Given the description of an element on the screen output the (x, y) to click on. 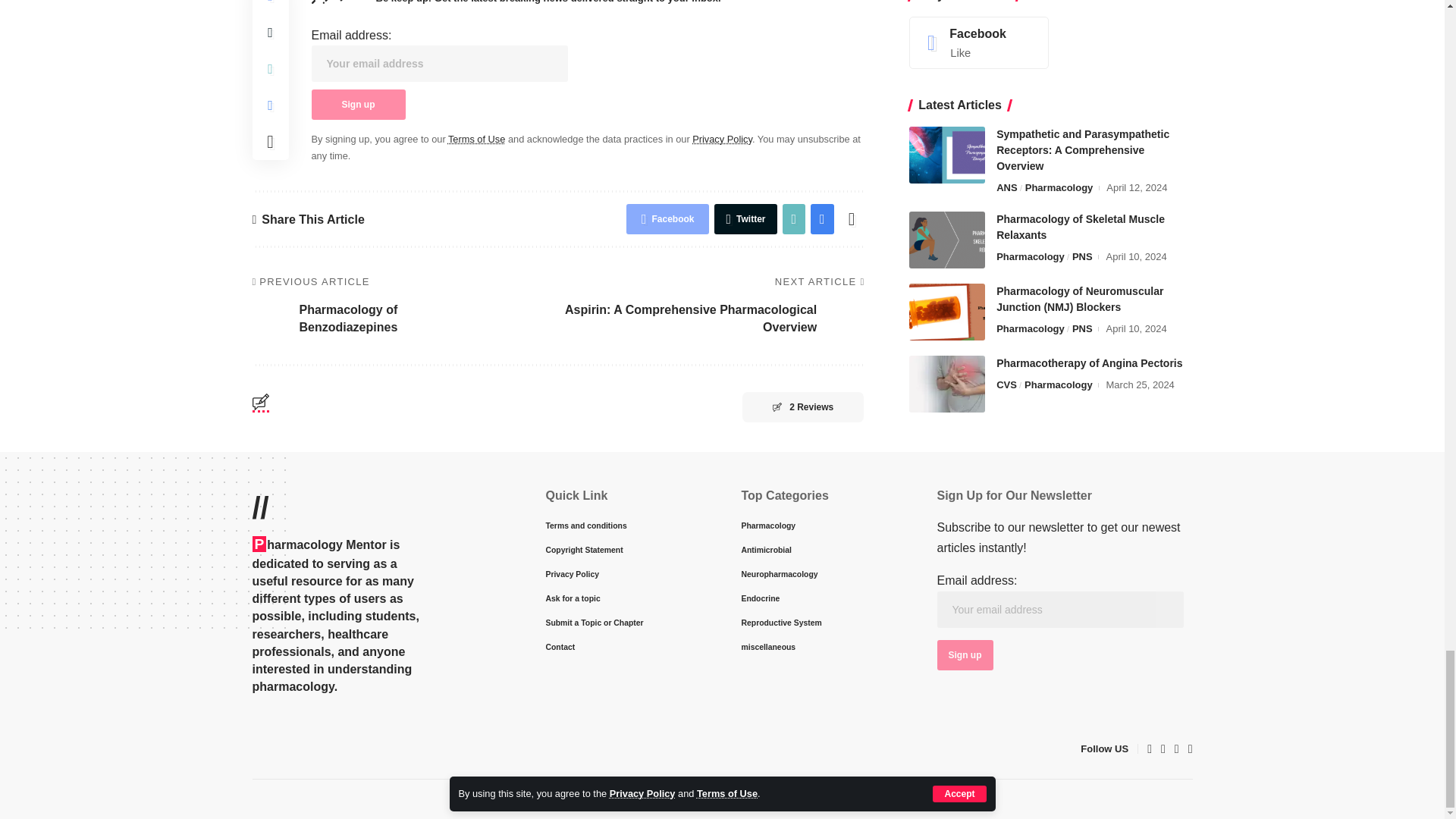
Sign up (964, 654)
Pharmacology Mentor (314, 748)
Sign up (357, 104)
